Given the description of an element on the screen output the (x, y) to click on. 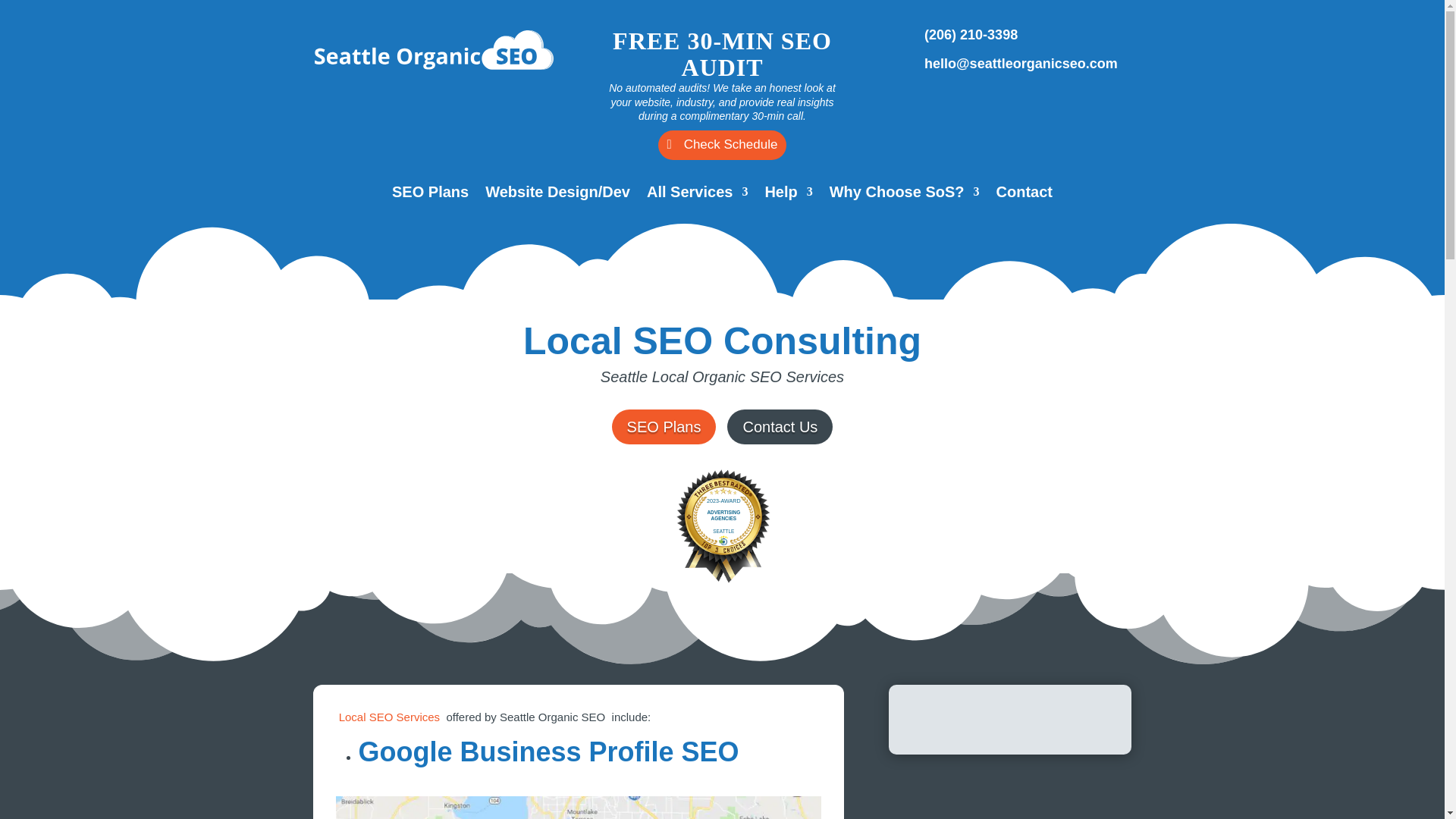
Contact (1023, 194)
SEO Plans (663, 426)
Help (788, 194)
All Services (697, 194)
Local SEO Services (389, 716)
Seattle Organic SEO logo (433, 48)
Check Schedule (722, 144)
Why Choose SoS? (904, 194)
SEO Plans (429, 194)
Contact Us (779, 426)
local seo services (389, 716)
